Given the description of an element on the screen output the (x, y) to click on. 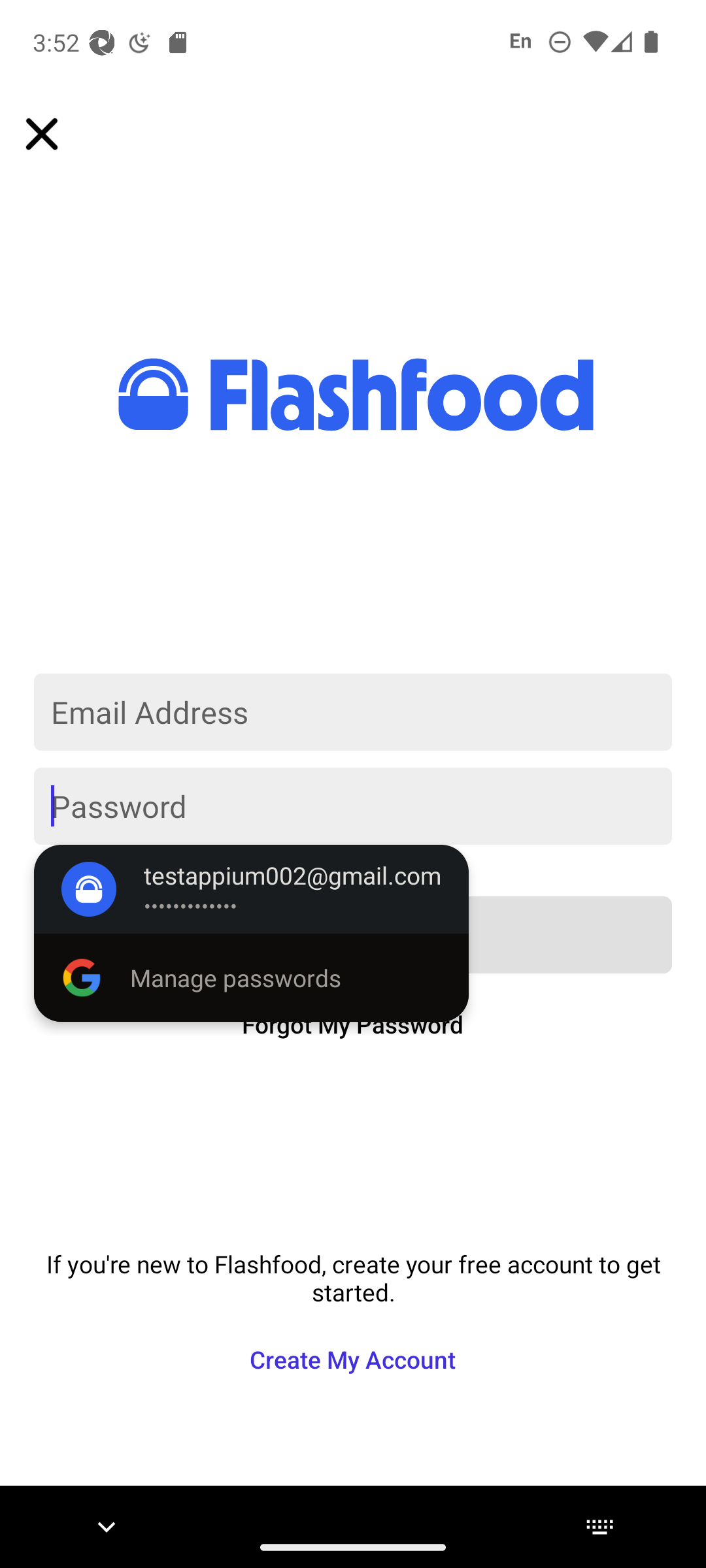
Flashfood testappium002@gmail.com ••••••••••••• (250, 888)
Google Logo Manage passwords (250, 977)
